Given the description of an element on the screen output the (x, y) to click on. 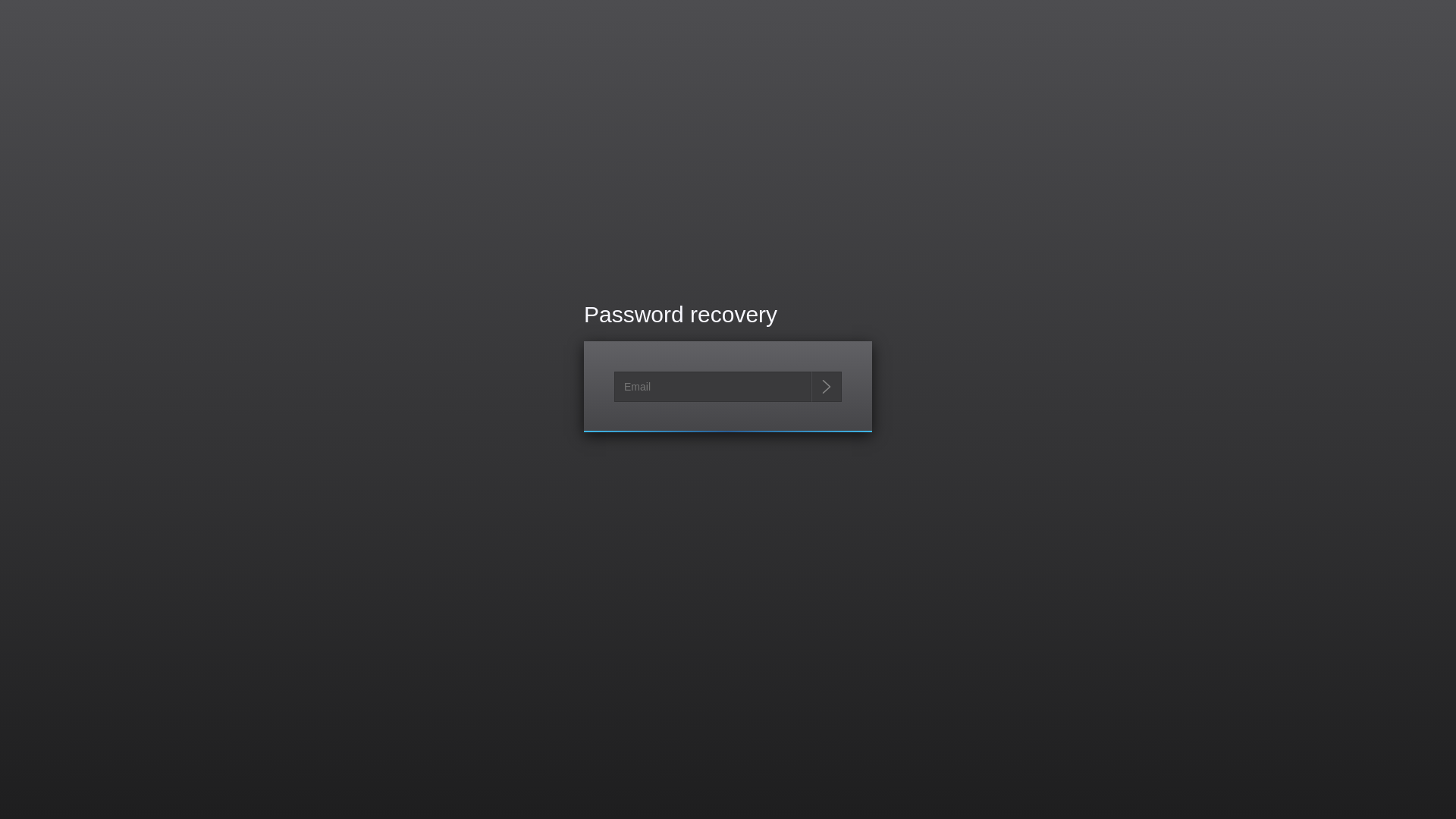
Send me reset password instructions Element type: hover (826, 386)
Send me reset password instructions Element type: text (826, 386)
